Given the description of an element on the screen output the (x, y) to click on. 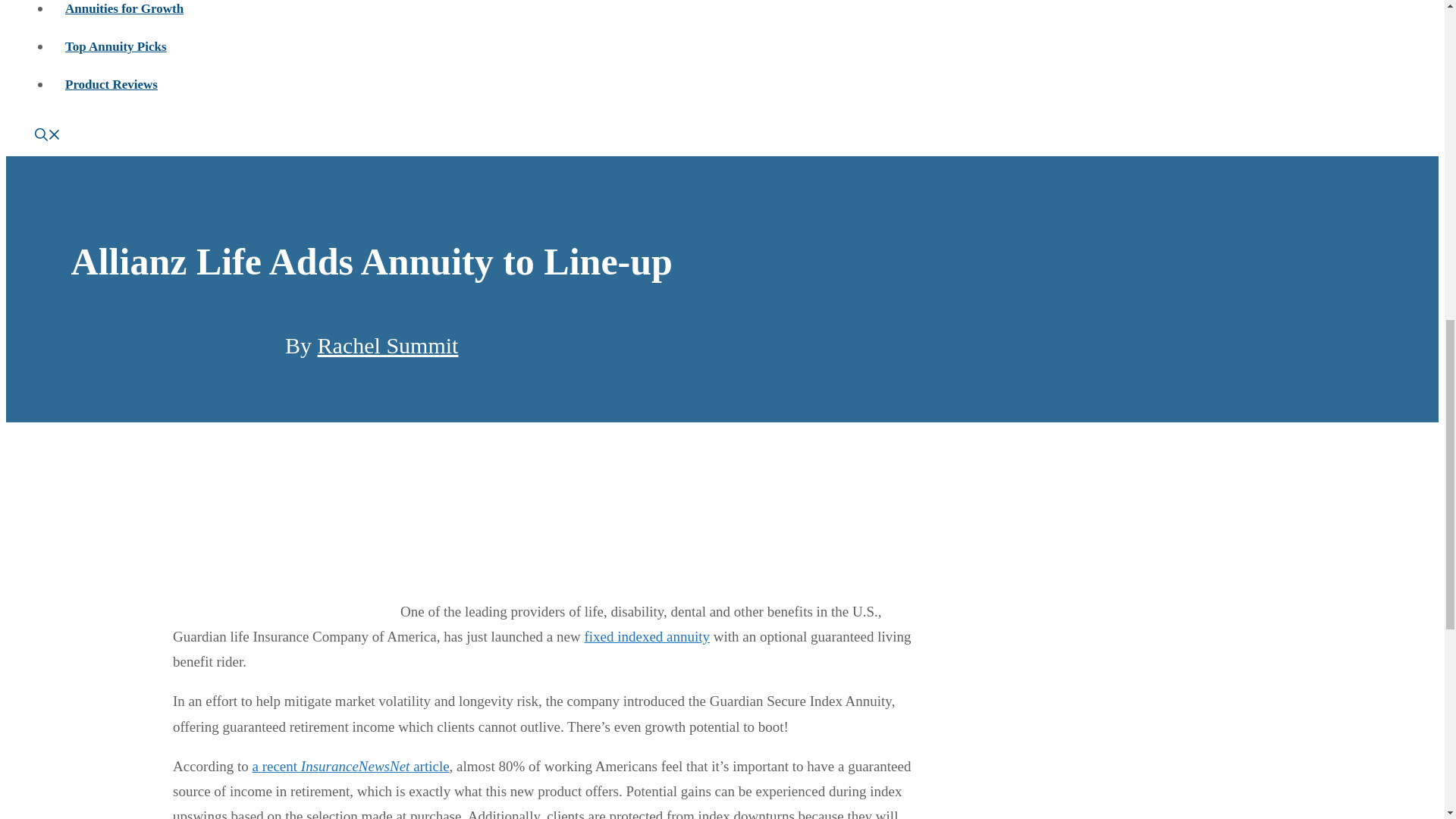
fixed indexed annuity (646, 636)
Rachel Summit (387, 344)
Annuities for Growth (123, 8)
Product Reviews (110, 83)
a recent InsuranceNewsNet article (349, 765)
Top Annuity Picks (115, 46)
View all posts by Rachel Summit (387, 344)
